Given the description of an element on the screen output the (x, y) to click on. 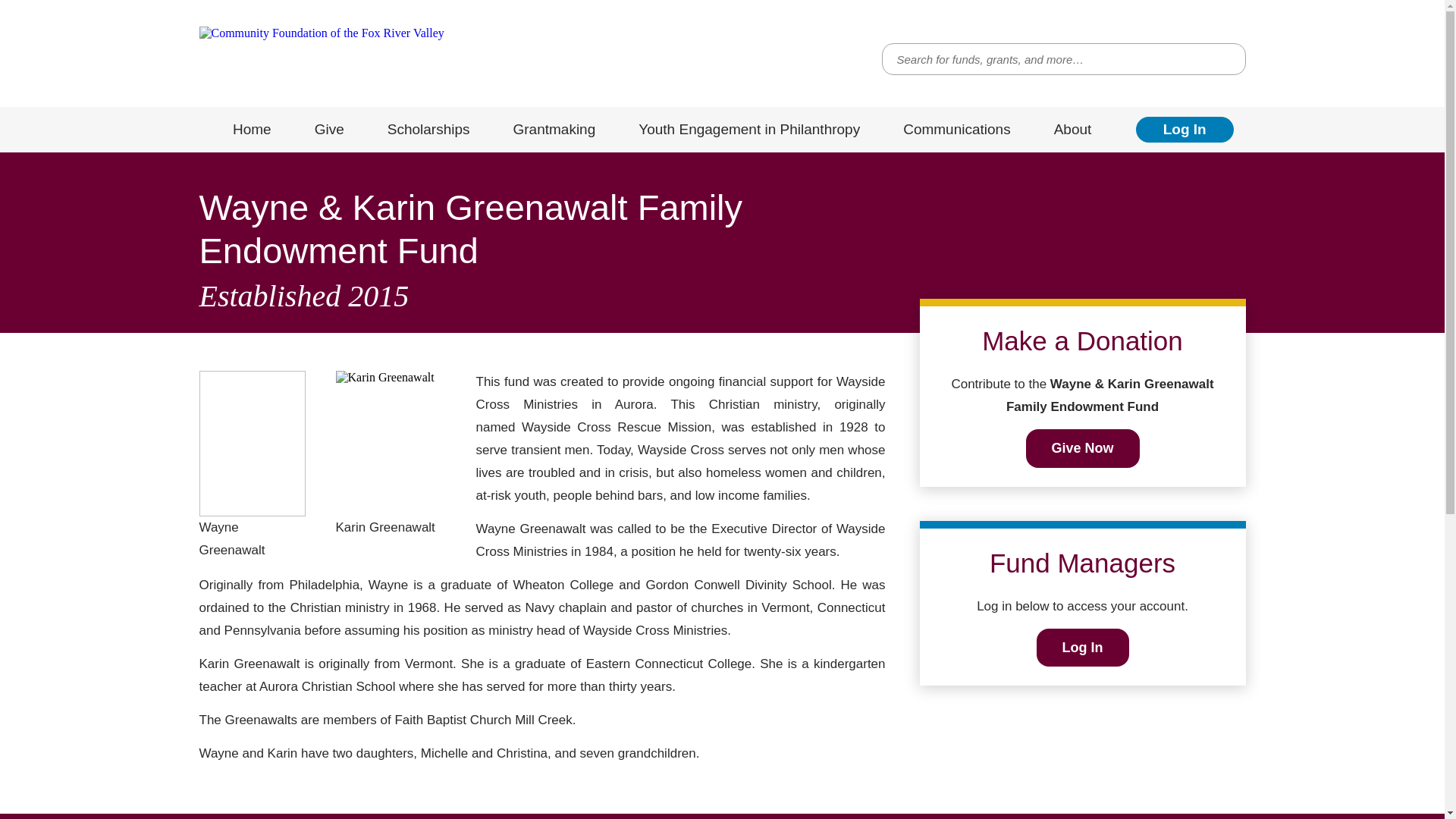
Home (251, 129)
Communications (957, 129)
Scholarships (428, 129)
About (1072, 129)
Give (328, 129)
Grantmaking (554, 129)
Youth Engagement in Philanthropy (749, 129)
